Given the description of an element on the screen output the (x, y) to click on. 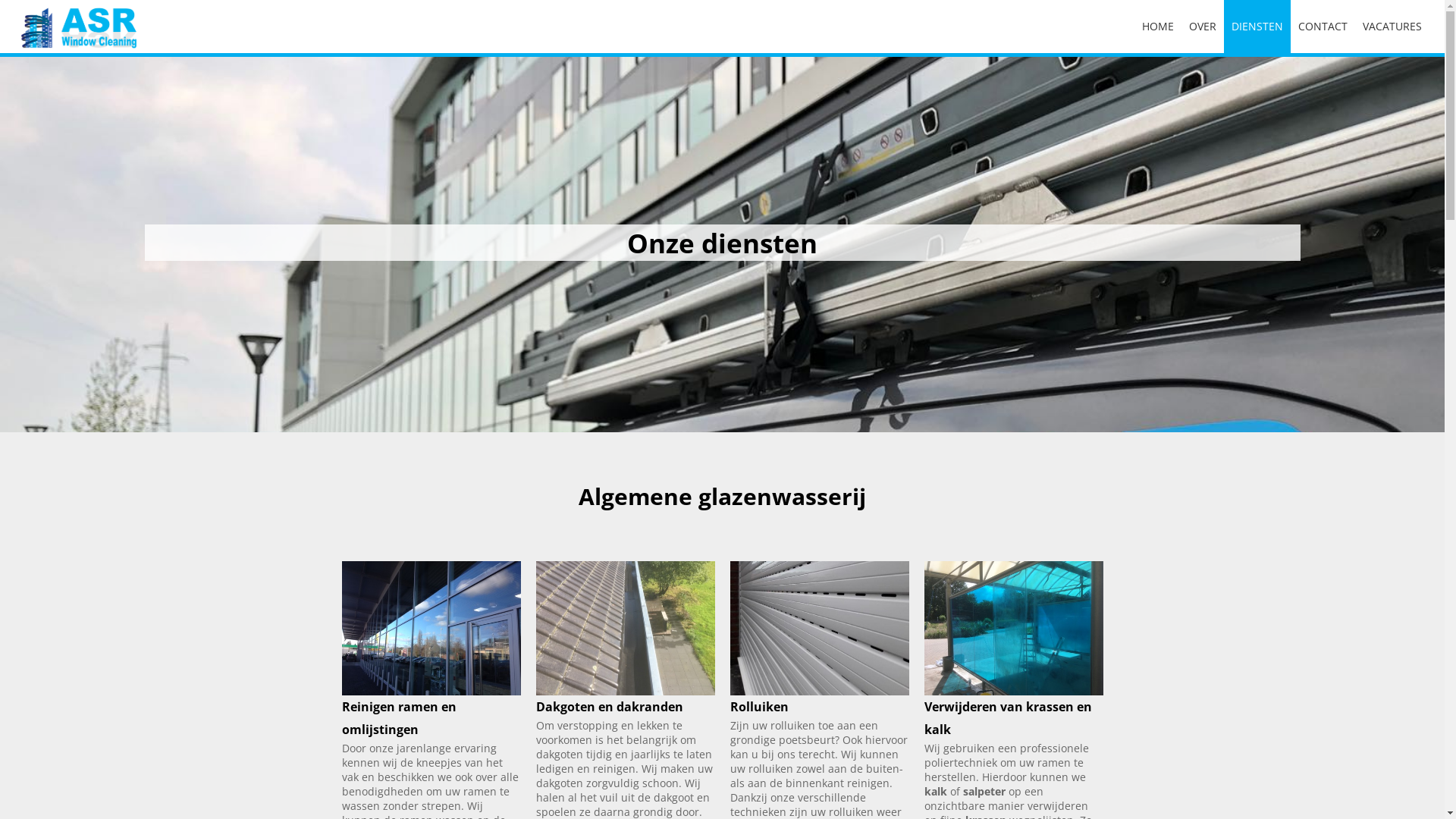
CONTACT Element type: text (1322, 26)
VACATURES Element type: text (1392, 26)
HOME Element type: text (1157, 26)
DIENSTEN Element type: text (1256, 26)
OVER Element type: text (1202, 26)
